Given the description of an element on the screen output the (x, y) to click on. 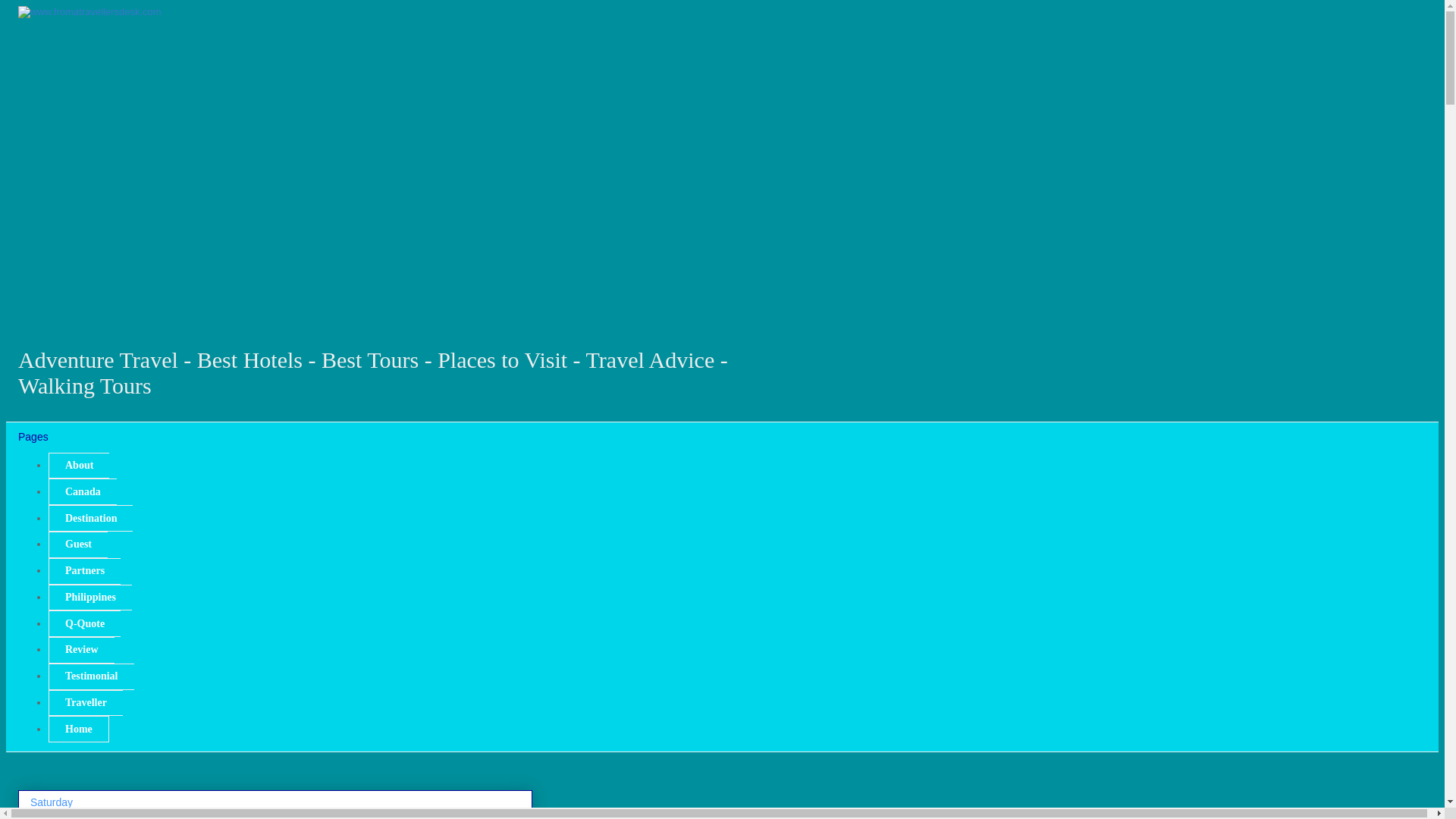
Home (78, 728)
Partners (84, 570)
Canada (82, 491)
Philippines (90, 597)
Traveller (85, 703)
Q-Quote (84, 623)
Destination (90, 518)
Review (81, 650)
Guest (77, 544)
About (78, 465)
Testimonial (90, 676)
